Given the description of an element on the screen output the (x, y) to click on. 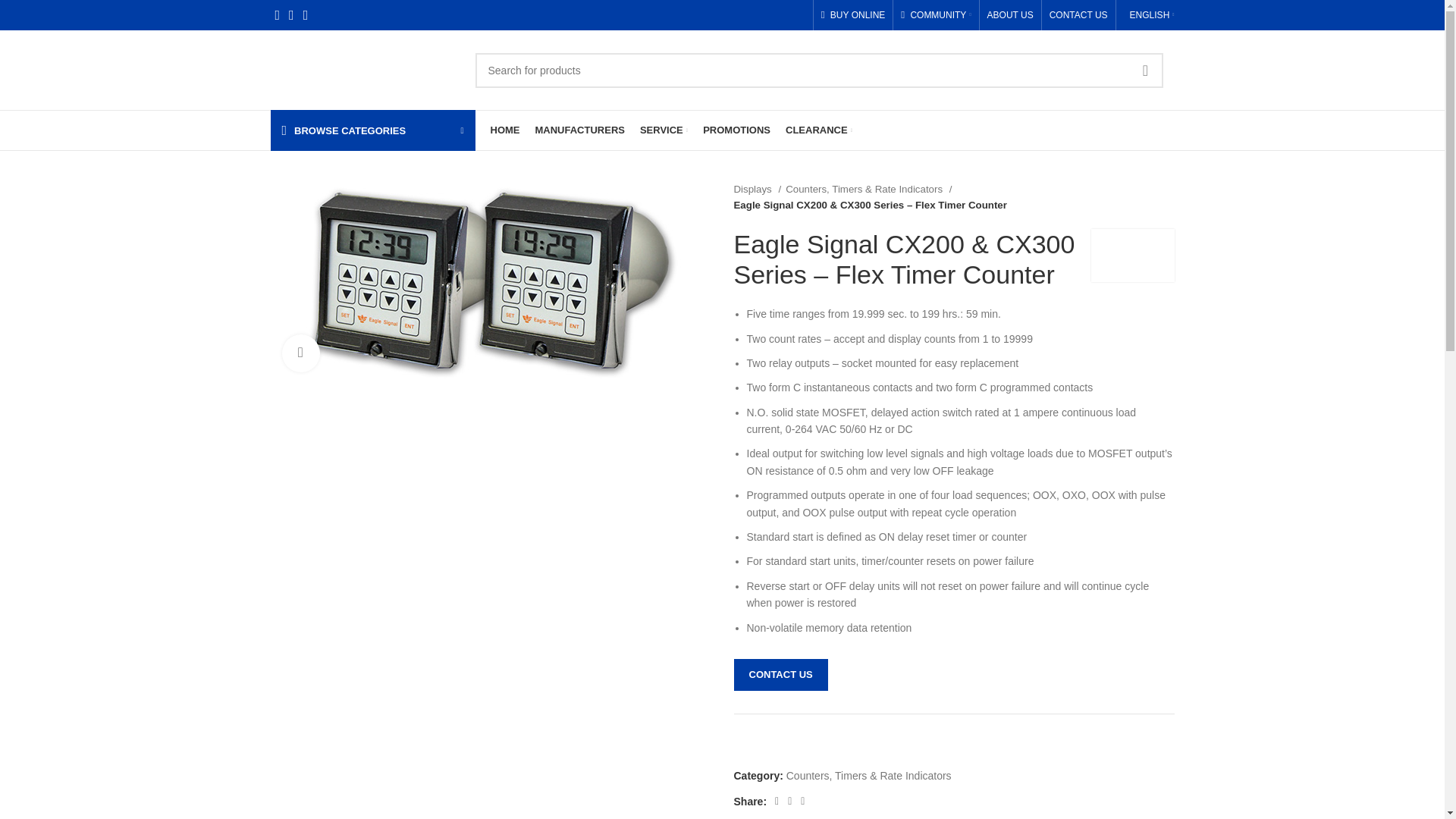
COMMUNITY (936, 15)
BUY ONLINE (853, 15)
CX200 (490, 282)
ABOUT US (1010, 15)
Search for products (817, 70)
SEARCH (1145, 70)
ENGLISH (1149, 15)
CONTACT US (1078, 15)
Eagle Signal Controls (1131, 255)
